Given the description of an element on the screen output the (x, y) to click on. 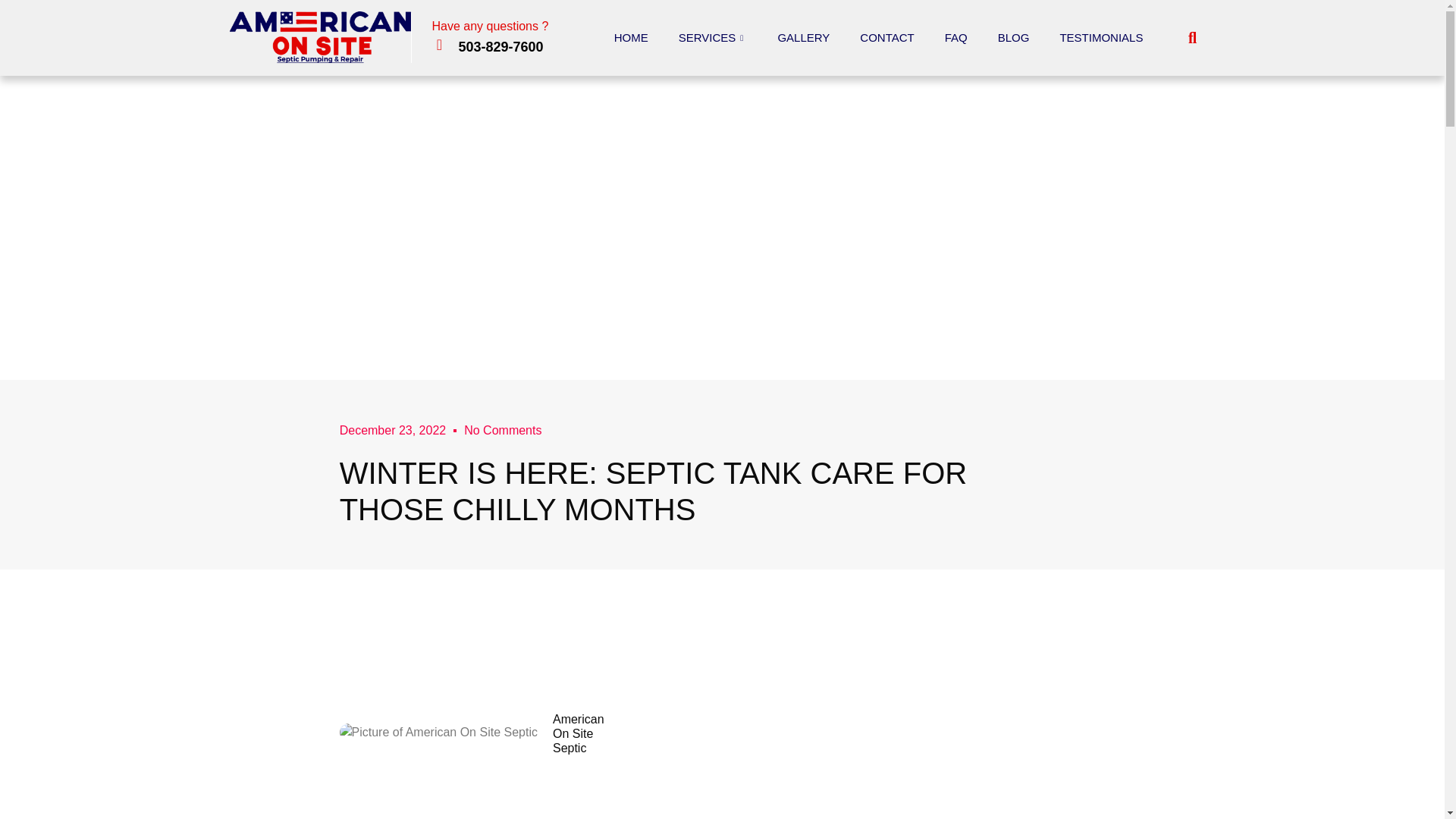
TESTIMONIALS (1100, 37)
HOME (630, 37)
503-829-7600 (500, 46)
SERVICES (712, 37)
GALLERY (802, 37)
December 23, 2022 (392, 430)
BLOG (1013, 37)
CONTACT (886, 37)
FAQ (956, 37)
No Comments (502, 430)
